Given the description of an element on the screen output the (x, y) to click on. 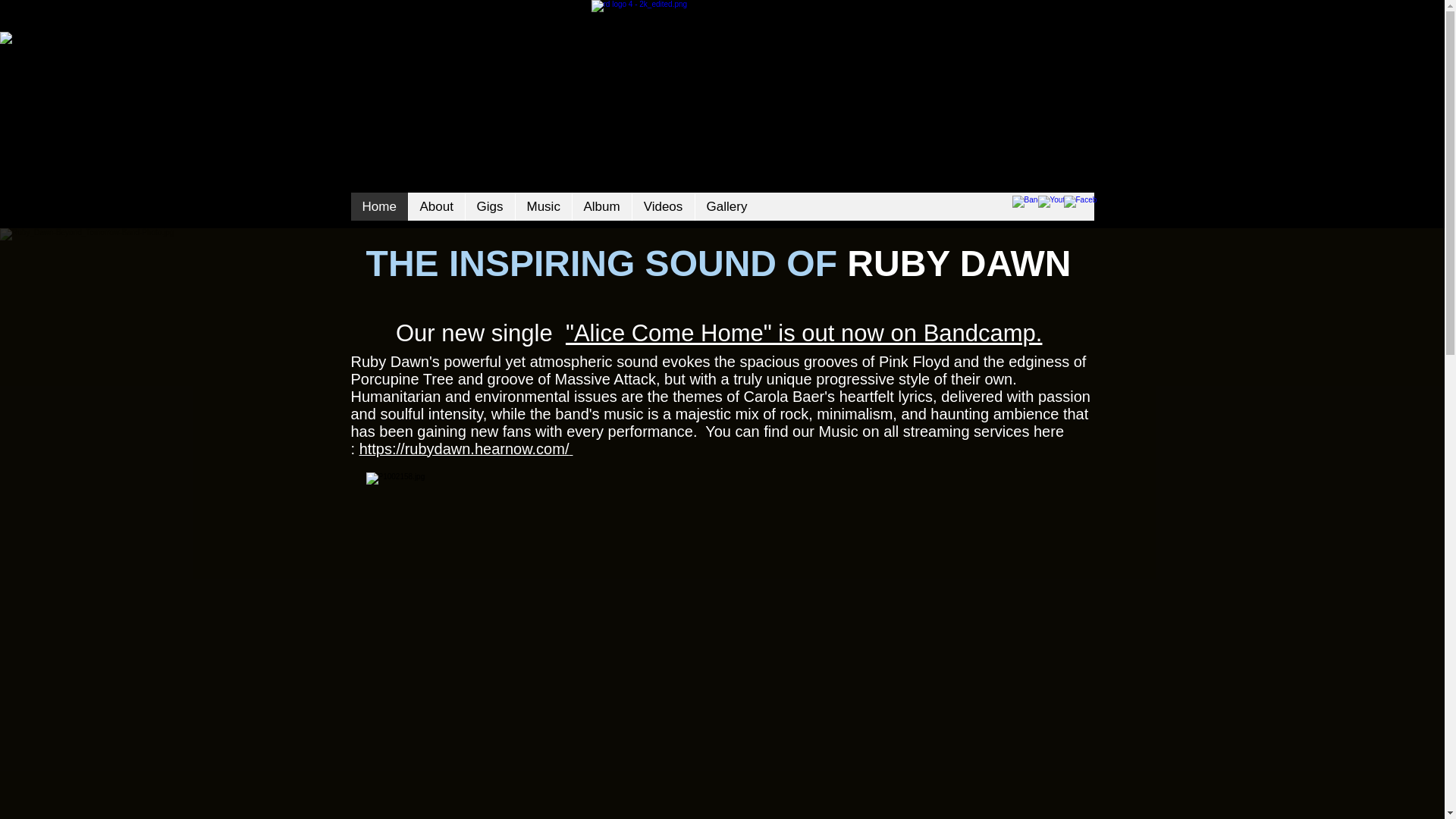
Videos (662, 206)
Music (541, 206)
Album (601, 206)
About (435, 206)
Home (378, 206)
"Alice Come Home" is out now on Bandcamp. (804, 333)
Gigs (488, 206)
Gallery (726, 206)
